Given the description of an element on the screen output the (x, y) to click on. 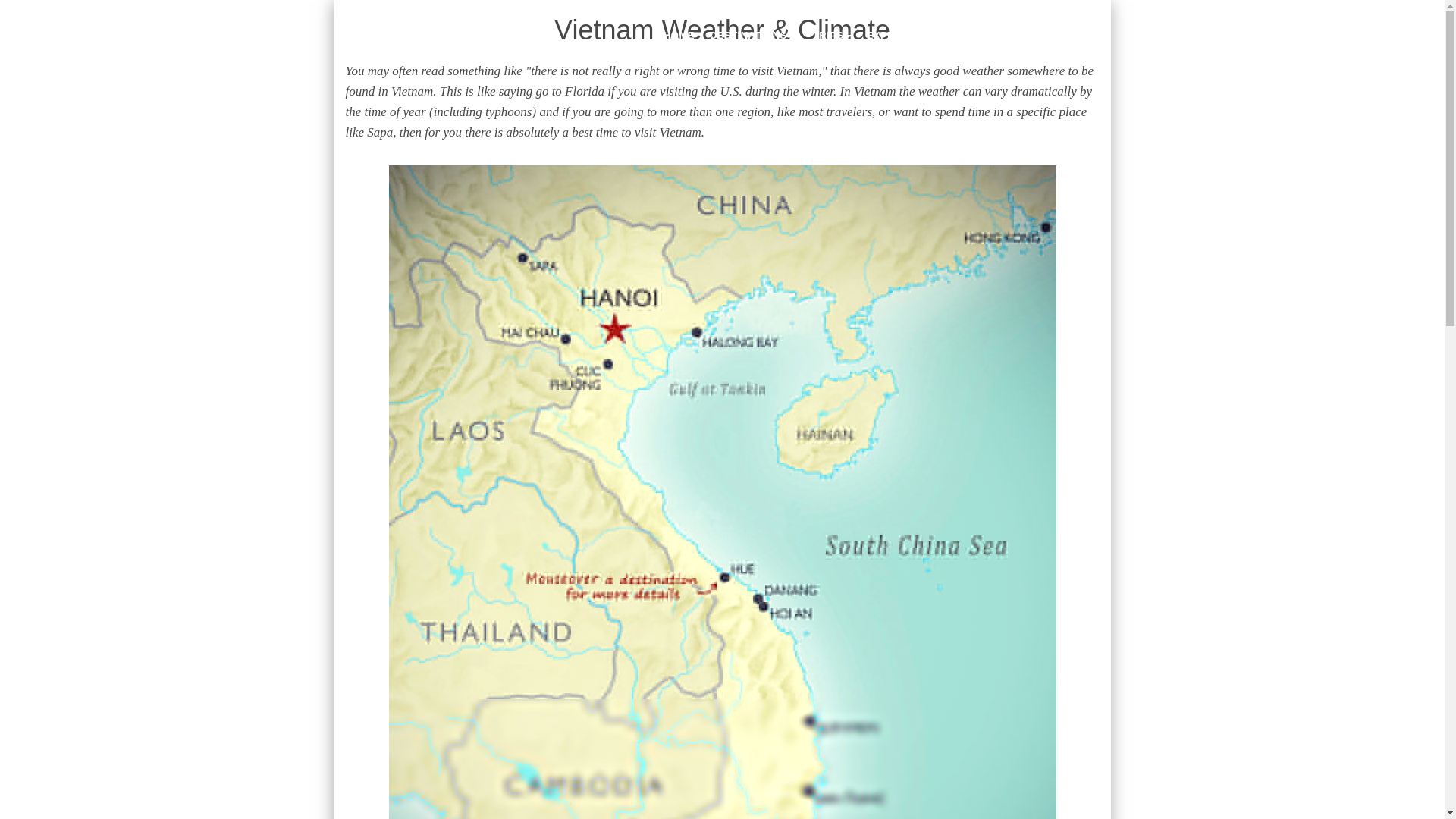
TRIPS (832, 34)
DESTINATIONS (753, 34)
HOME (678, 34)
